Given the description of an element on the screen output the (x, y) to click on. 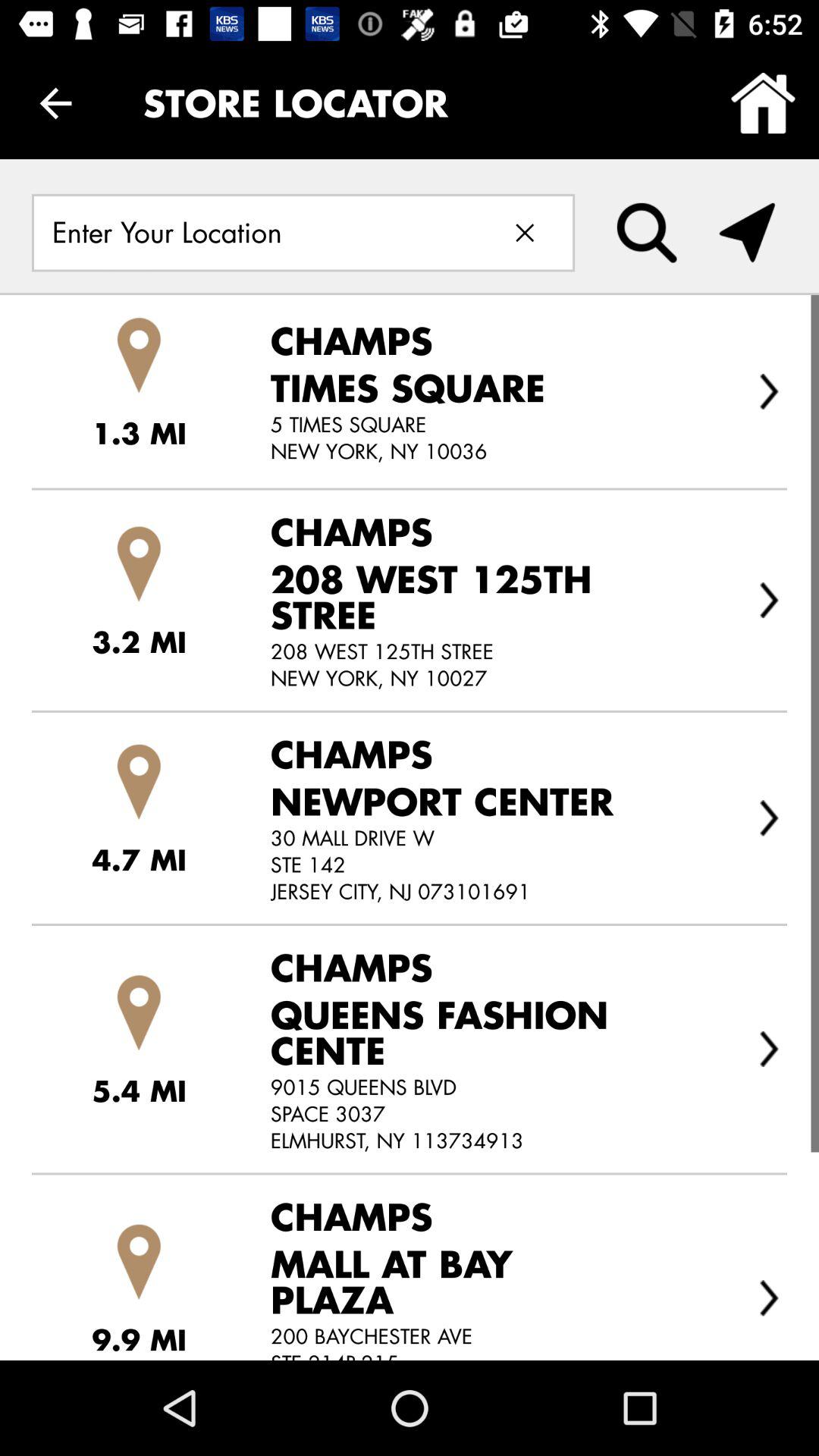
go to map (746, 232)
